Given the description of an element on the screen output the (x, y) to click on. 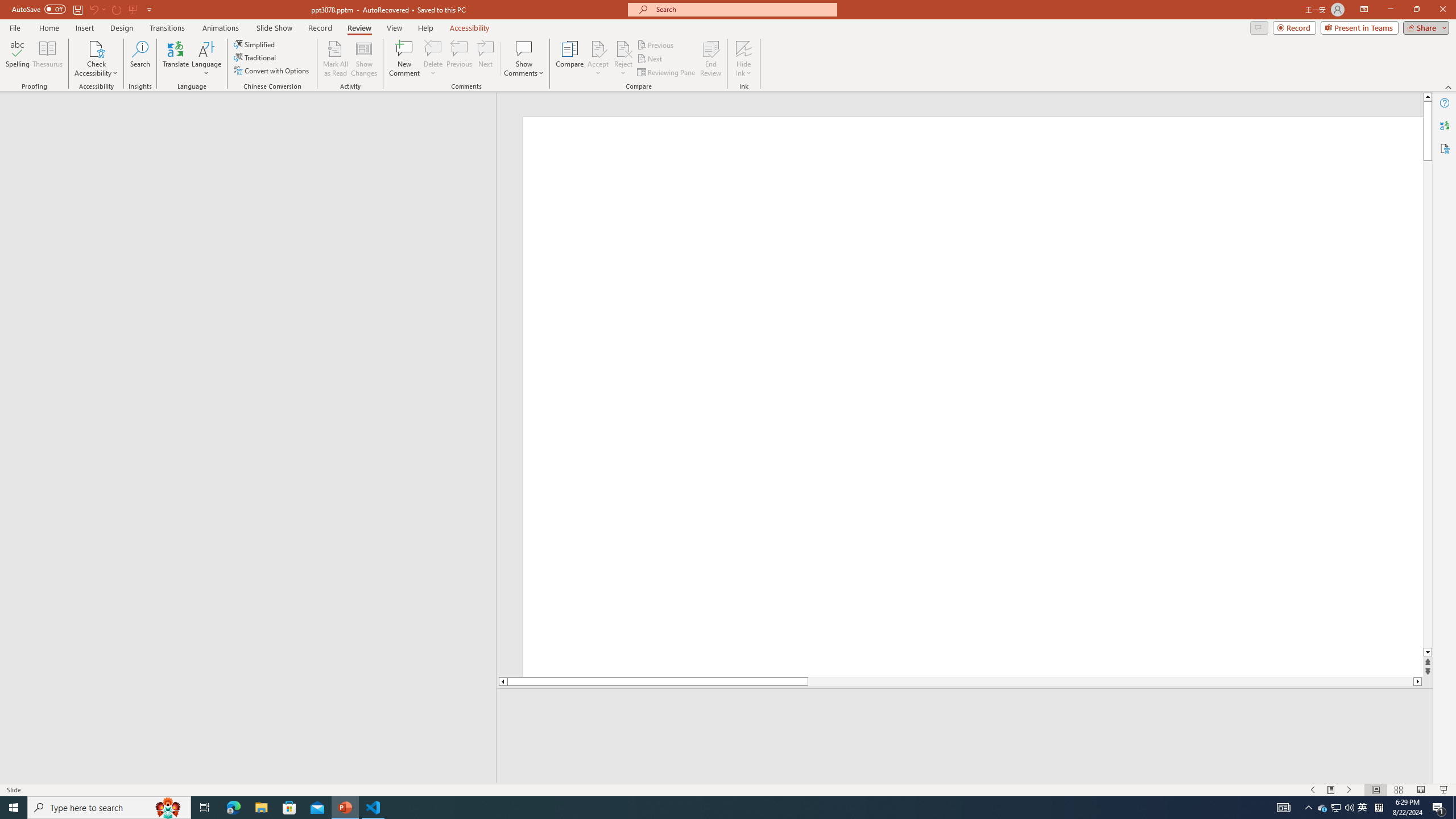
Convert with Options... (272, 69)
Language (206, 58)
End Review (710, 58)
Compare (569, 58)
Show Changes (363, 58)
Traditional (255, 56)
